Given the description of an element on the screen output the (x, y) to click on. 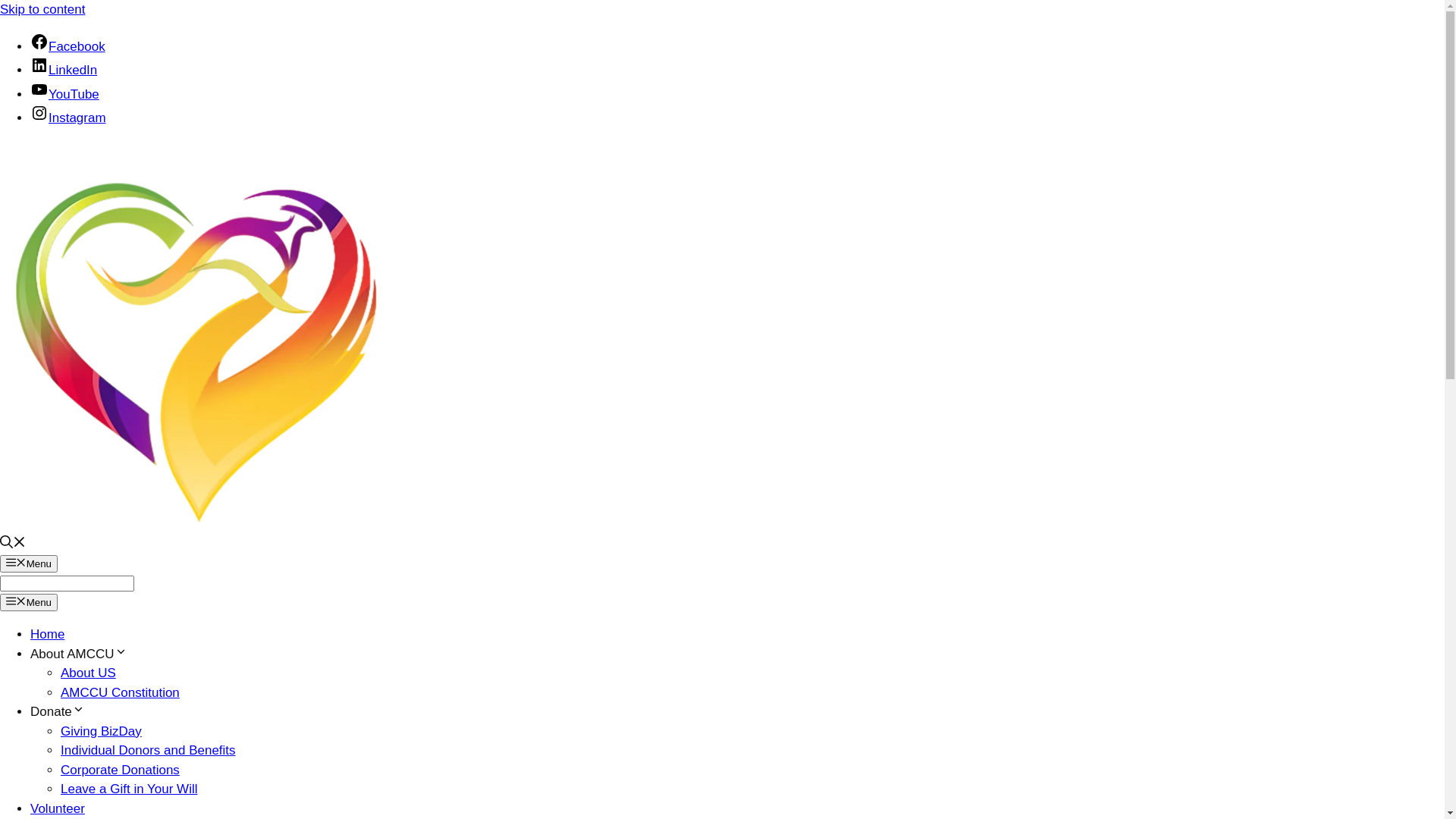
Search Element type: hover (67, 583)
Leave a Gift in Your Will Element type: text (128, 788)
About AMCCU Element type: text (78, 653)
About US Element type: text (88, 672)
Corporate Donations Element type: text (119, 769)
Giving BizDay Element type: text (100, 730)
Menu Element type: text (28, 563)
Donate Element type: text (57, 711)
Volunteer Element type: text (57, 807)
Facebook Element type: text (67, 46)
YouTube Element type: text (64, 93)
Individual Donors and Benefits Element type: text (147, 750)
LinkedIn Element type: text (63, 69)
Home Element type: text (47, 634)
AMCCU Constitution Element type: text (119, 692)
Instagram Element type: text (68, 117)
Skip to content Element type: text (42, 9)
Menu Element type: text (28, 601)
